Given the description of an element on the screen output the (x, y) to click on. 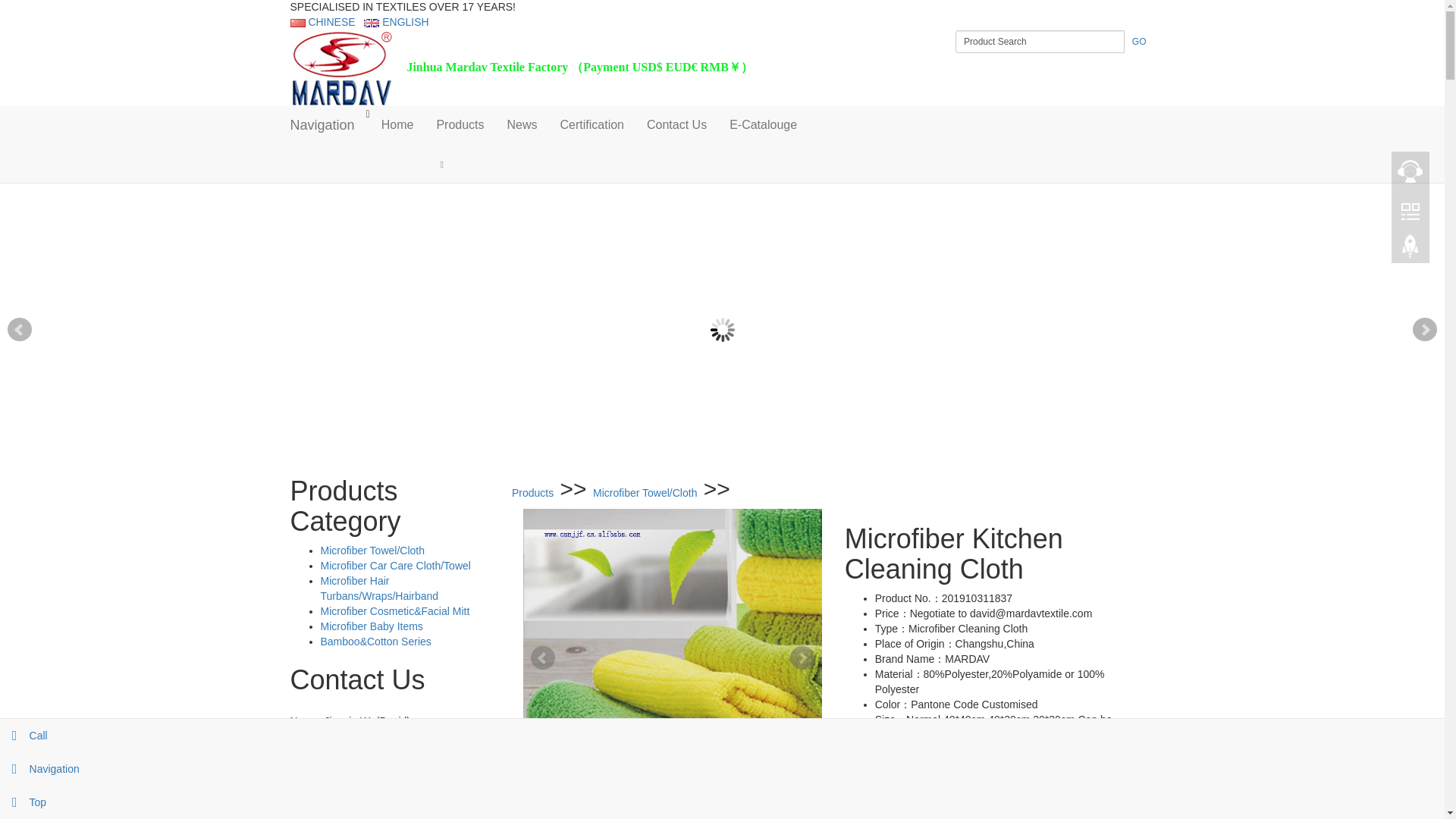
GO (1139, 41)
Prev (542, 658)
Products (460, 125)
Certification (591, 125)
Home (397, 125)
Microfiber Baby Items (371, 625)
 CHINESE (322, 21)
1 (711, 471)
Prev (19, 329)
2 (722, 471)
News (522, 125)
Chinese (322, 21)
E-Catalouge (762, 125)
Next (1424, 329)
Product Search (1039, 41)
